Given the description of an element on the screen output the (x, y) to click on. 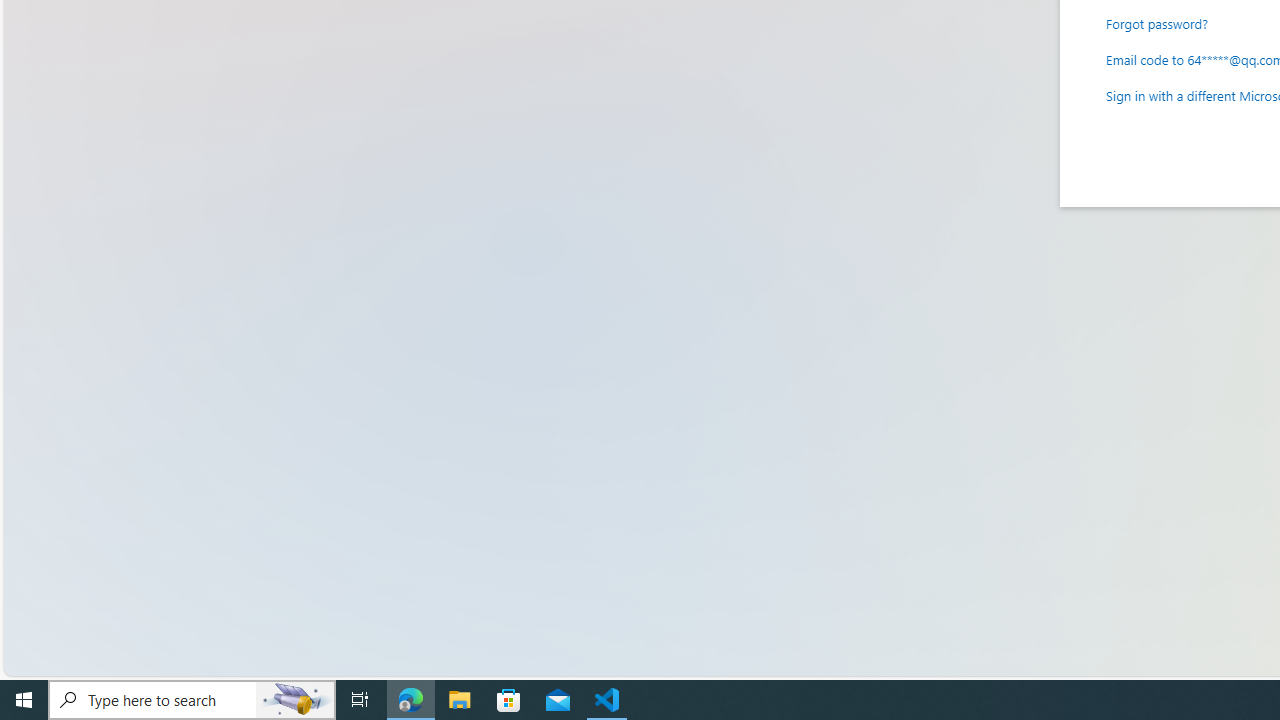
Forgot password? (1157, 22)
